Given the description of an element on the screen output the (x, y) to click on. 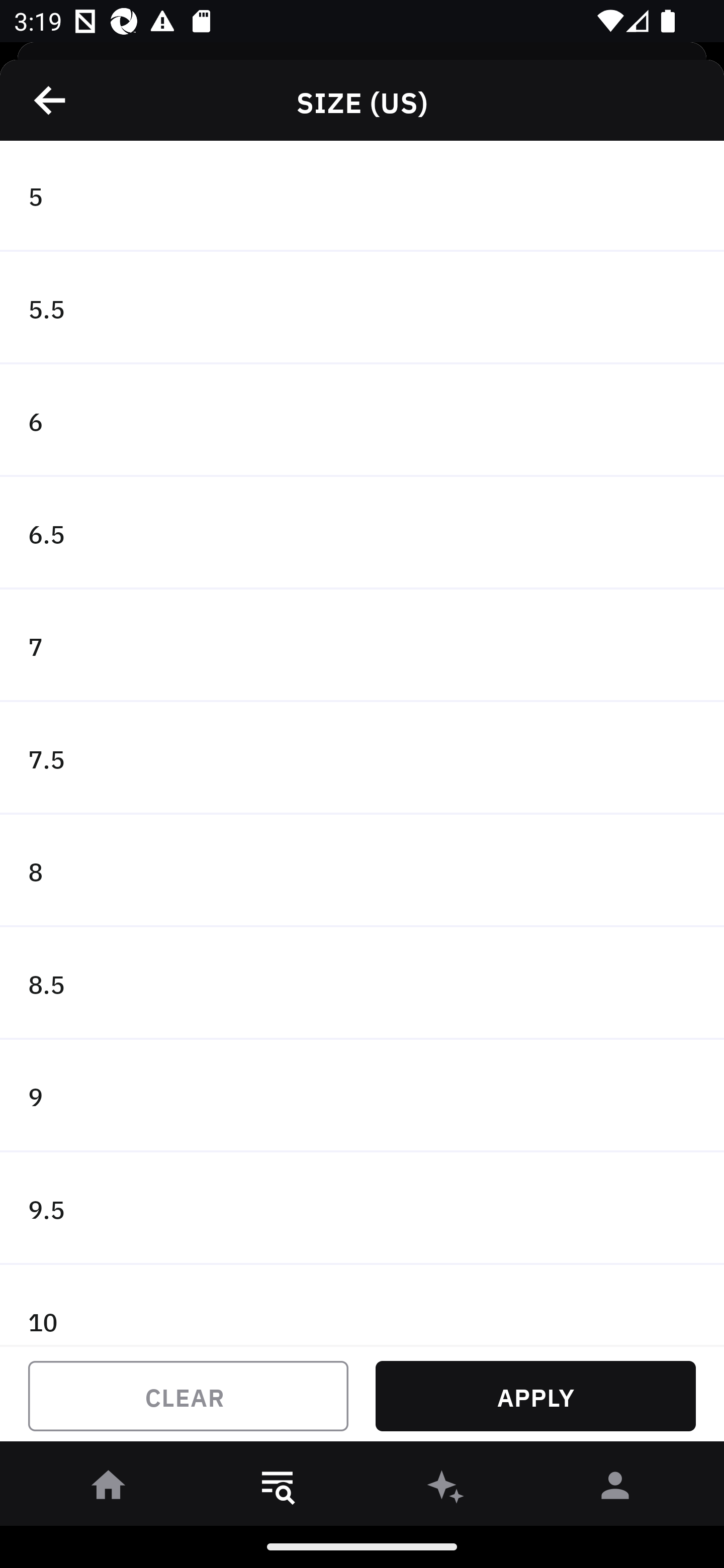
 (50, 100)
5 (362, 196)
5.5 (362, 307)
6 (362, 419)
6.5 (362, 532)
7 (362, 645)
7.5 (362, 758)
8 (362, 870)
8.5 (362, 982)
9 (362, 1095)
9.5 (362, 1208)
10 (362, 1305)
CLEAR  (188, 1396)
APPLY (535, 1396)
󰋜 (108, 1488)
󱎸 (277, 1488)
󰫢 (446, 1488)
󰀄 (615, 1488)
